Given the description of an element on the screen output the (x, y) to click on. 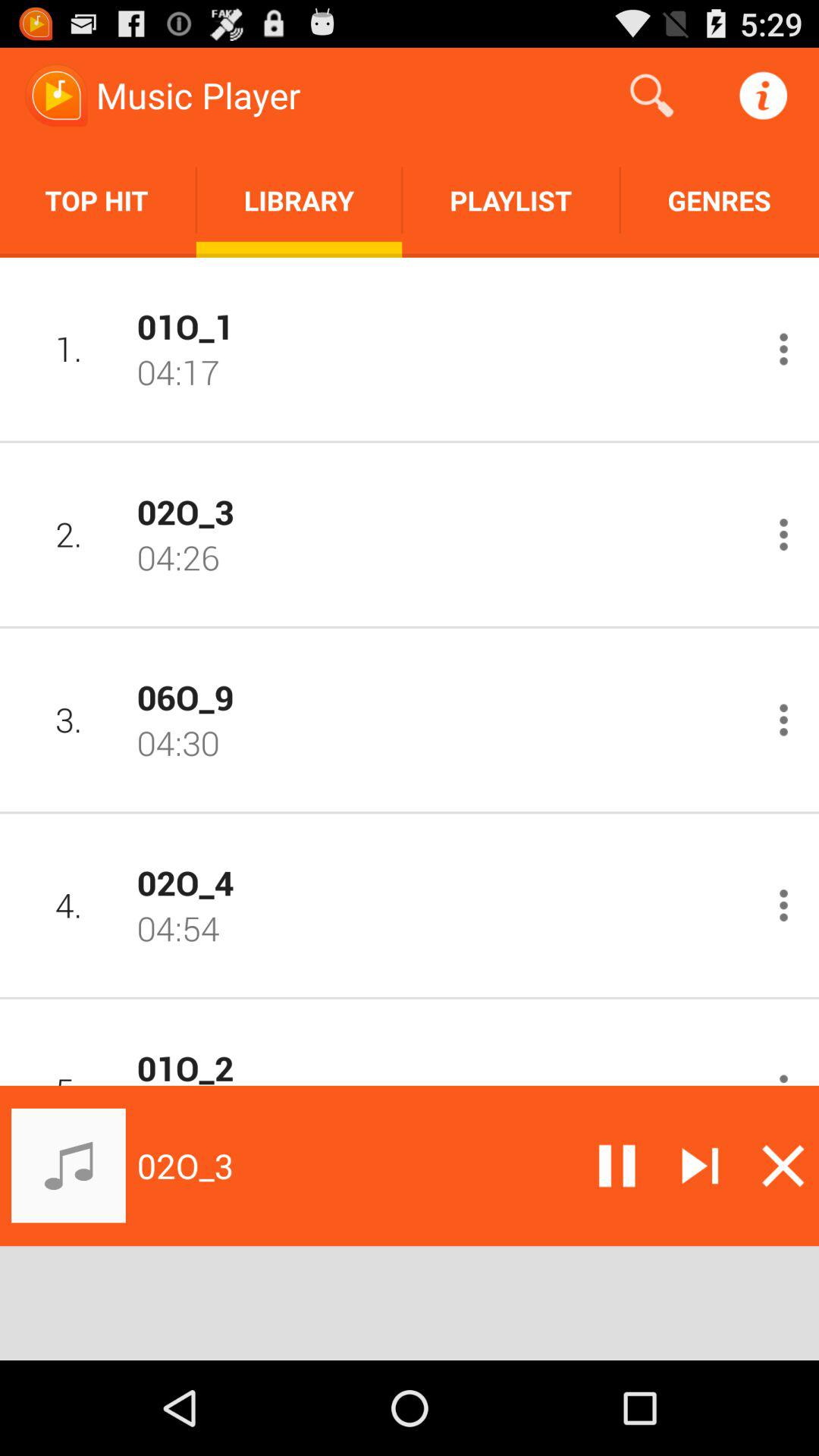
turn off item below the 04:26 (442, 696)
